Given the description of an element on the screen output the (x, y) to click on. 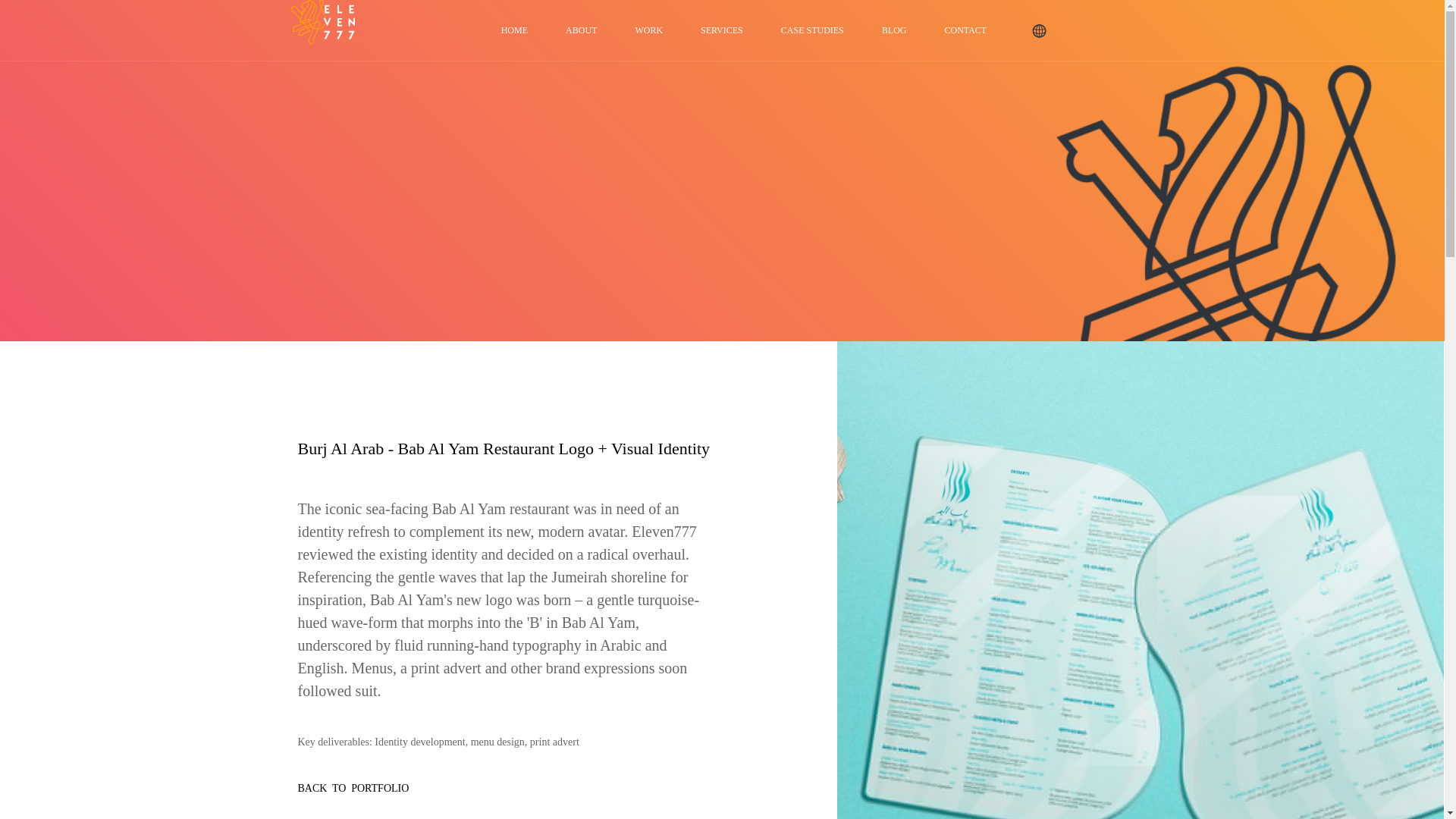
SERVICES (722, 30)
BACK TO PORTFOLIO (353, 787)
HOME (514, 30)
ABOUT (580, 30)
BLOG (894, 30)
English - US (1039, 30)
CASE STUDIES (812, 30)
CONTACT (965, 30)
WORK (648, 30)
